Given the description of an element on the screen output the (x, y) to click on. 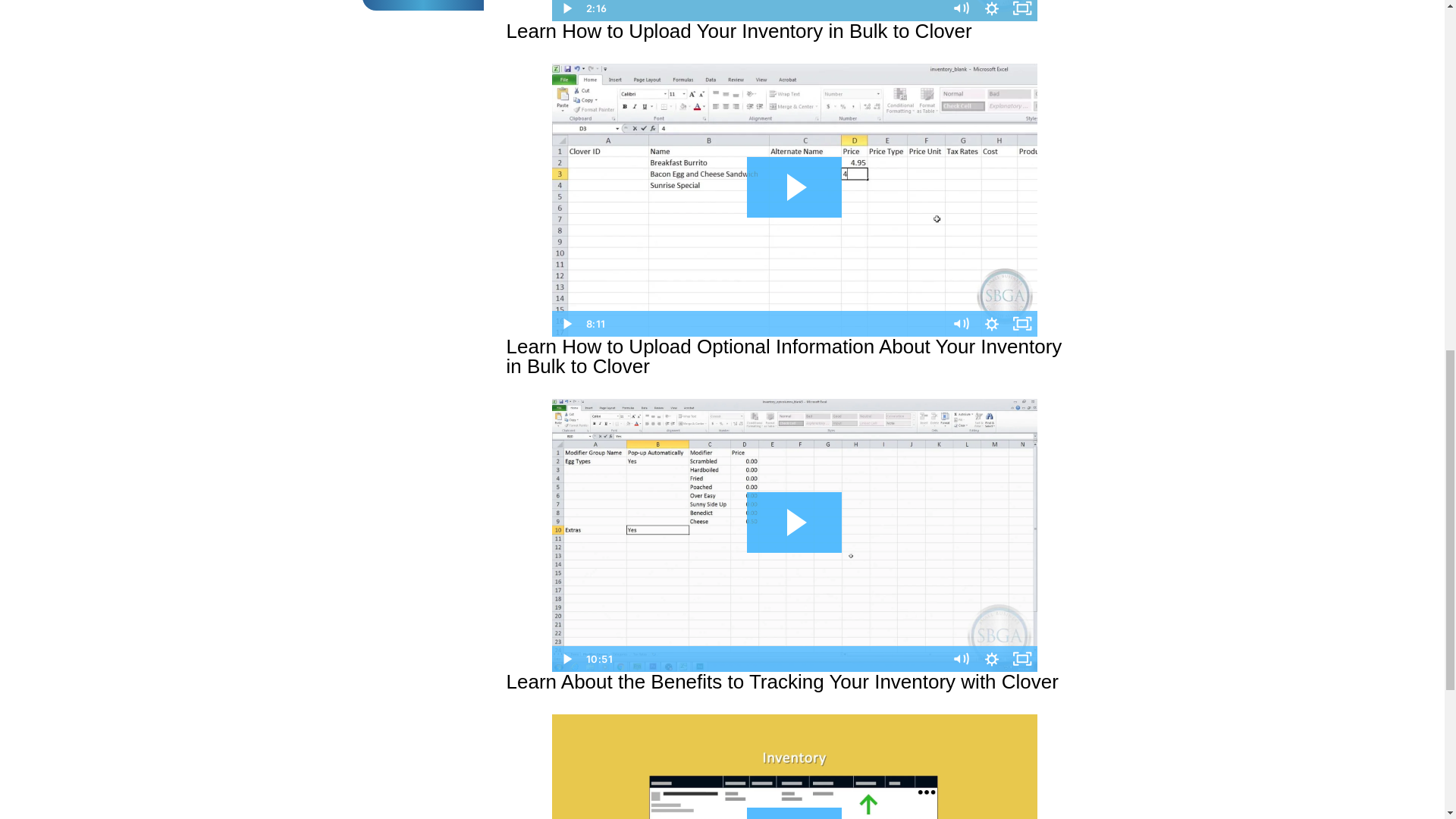
Show settings menu (991, 658)
Show settings menu (991, 323)
Show settings menu (991, 10)
